Given the description of an element on the screen output the (x, y) to click on. 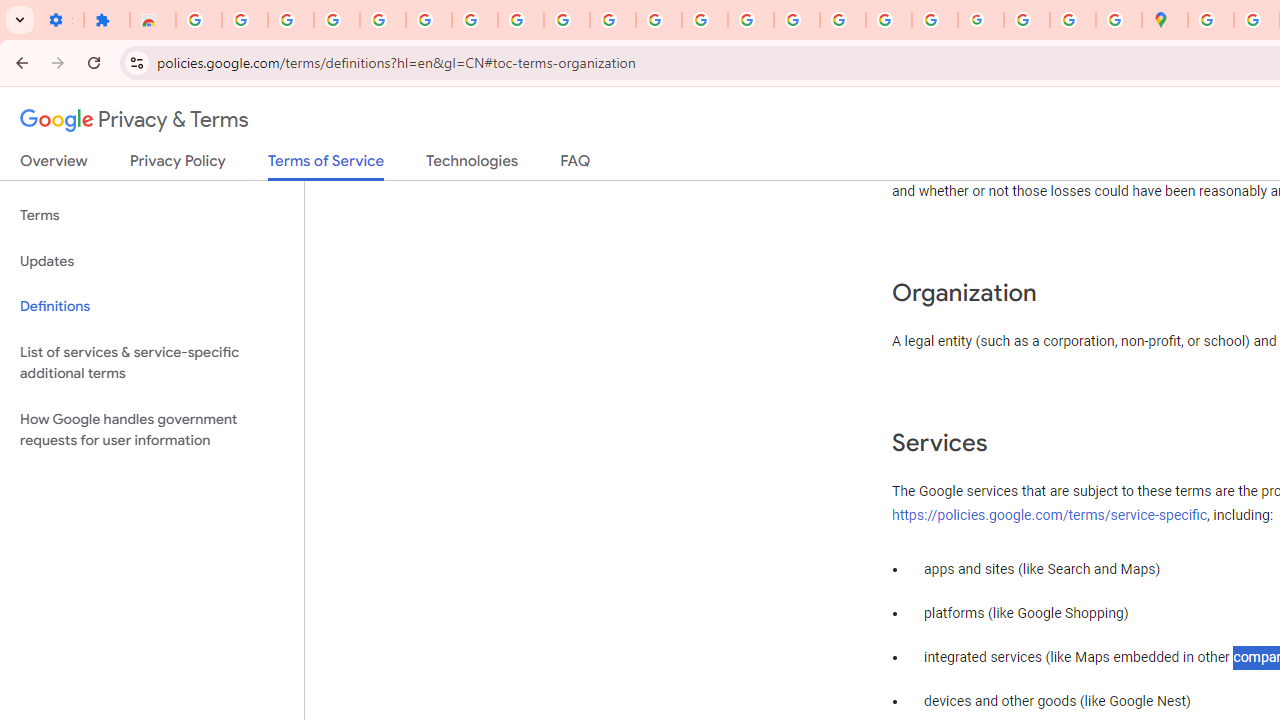
Settings - On startup (60, 20)
YouTube (613, 20)
Reviews: Helix Fruit Jump Arcade Game (153, 20)
Sign in - Google Accounts (198, 20)
Technologies (472, 165)
Google Account Help (474, 20)
Delete photos & videos - Computer - Google Photos Help (244, 20)
